Given the description of an element on the screen output the (x, y) to click on. 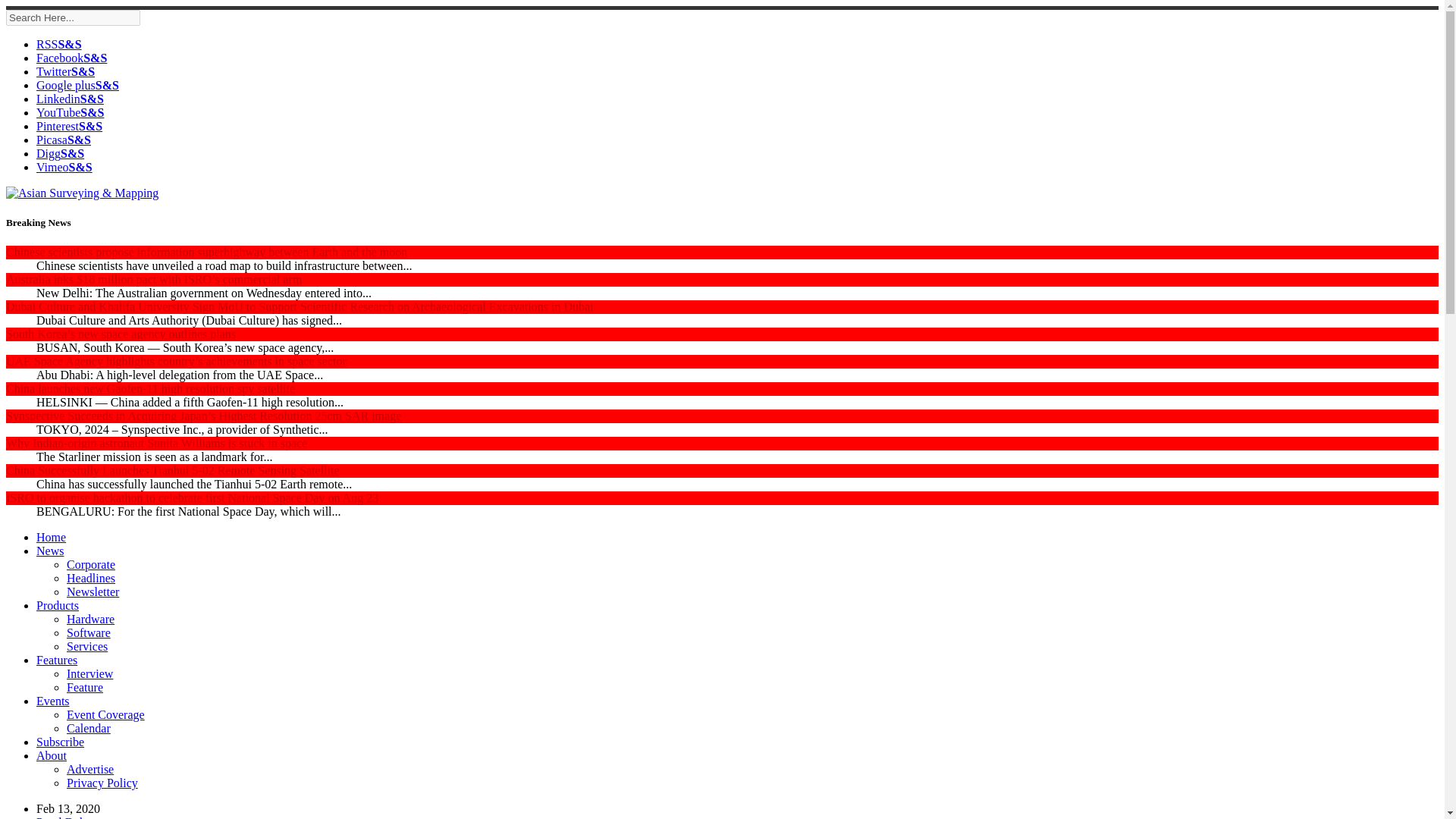
Newsletter (92, 591)
Sensors and Systems (63, 139)
Linkedin (69, 98)
Event Coverage (105, 714)
Calendar (88, 727)
Google plus (77, 84)
Products (57, 604)
Events (52, 700)
Corporate (90, 563)
Features (56, 659)
Home (50, 536)
Privacy Policy (102, 782)
